Given the description of an element on the screen output the (x, y) to click on. 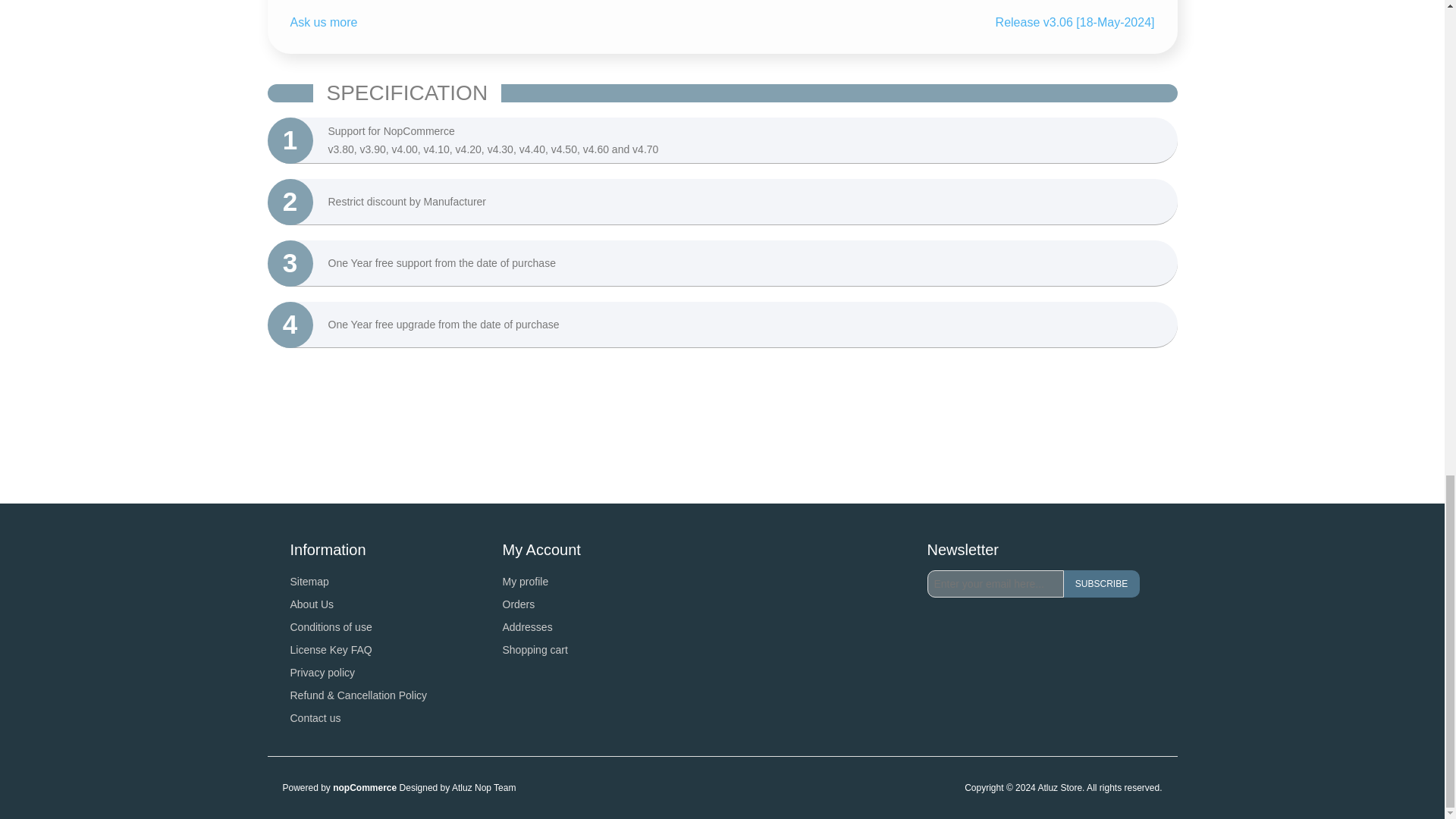
Conditions of use (330, 626)
License Key FAQ (330, 649)
Contact us (314, 717)
Sitemap (309, 581)
Addresses (526, 626)
nopCommerce (364, 787)
Ask us more (322, 21)
My profile (525, 581)
Privacy policy (322, 672)
SUBSCRIBE (1100, 583)
Orders (518, 604)
About Us (311, 604)
Shopping cart (534, 649)
